Given the description of an element on the screen output the (x, y) to click on. 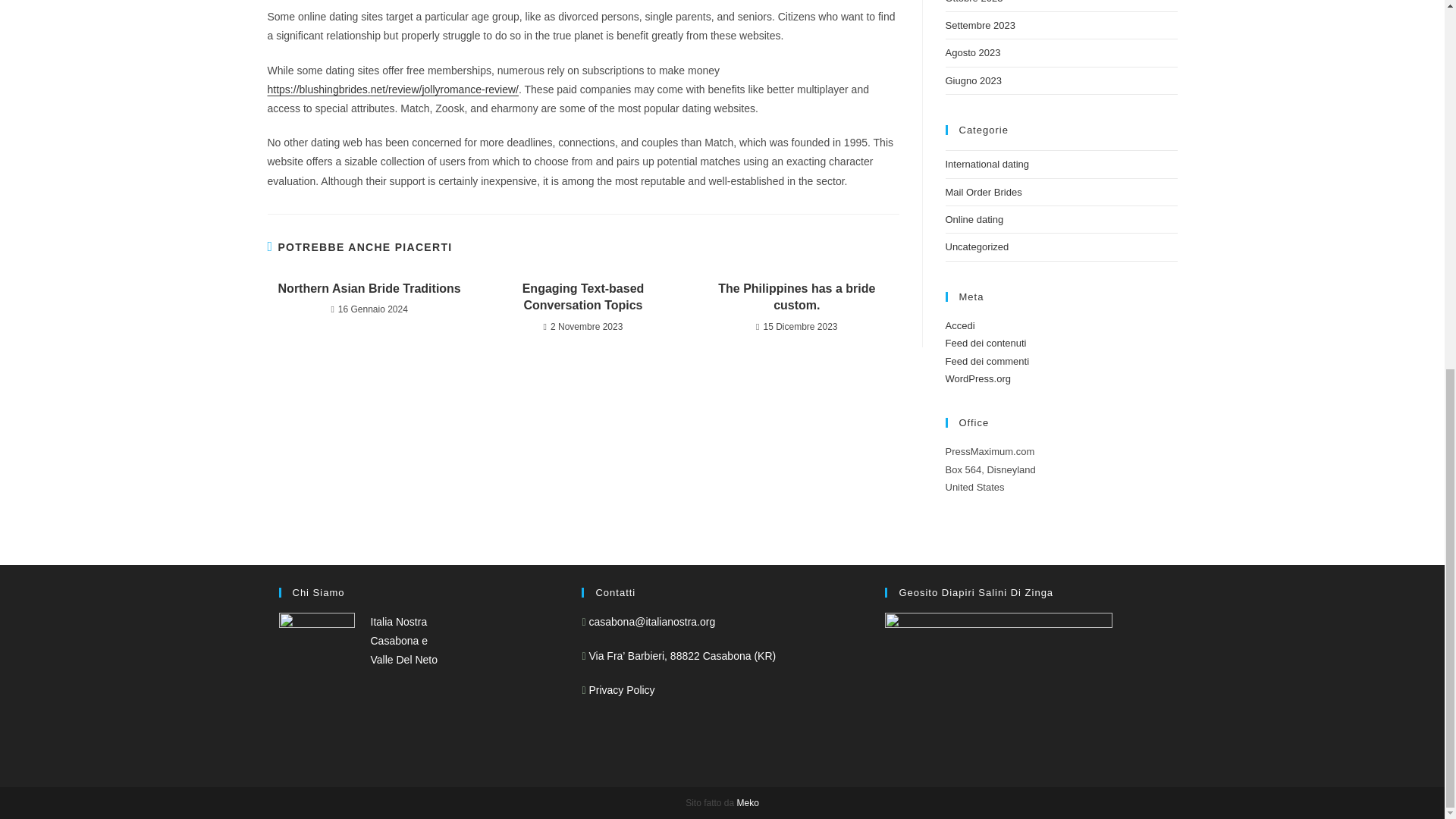
Ottobre 2023 (973, 2)
The Philippines has a bride custom. (796, 297)
Engaging Text-based Conversation Topics (582, 297)
Northern Asian Bride Traditions (368, 288)
